Given the description of an element on the screen output the (x, y) to click on. 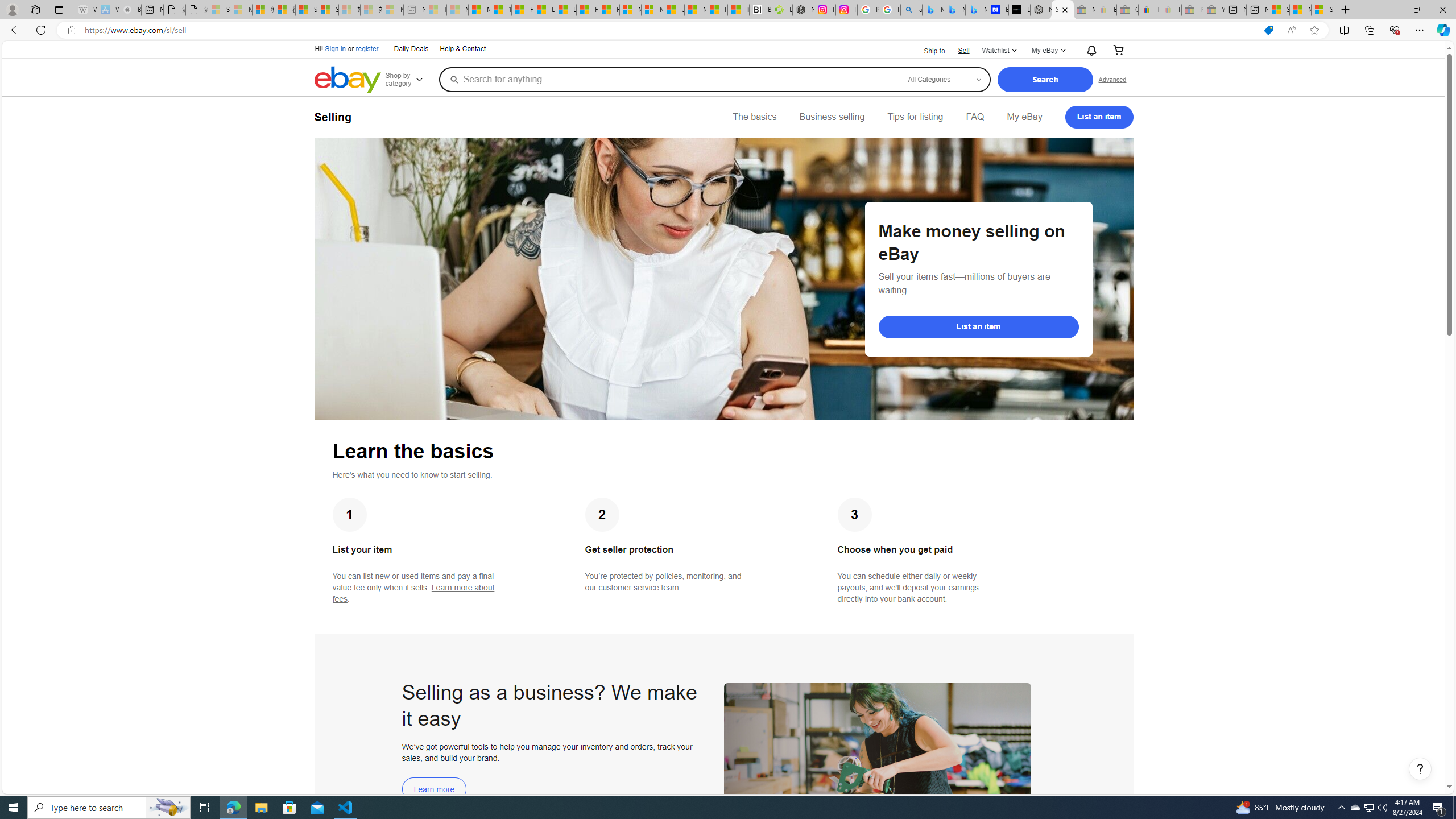
Daily Deals (410, 48)
Watchlist (998, 50)
AutomationID: gh-eb-Alerts (1090, 49)
Notifications (1088, 49)
Ship to (927, 49)
Sign in to your Microsoft account - Sleeping (218, 9)
Help & Contact (461, 48)
eBay Home (347, 79)
Learn more about fees - opens in new window or tab. (413, 593)
Select a category for search (944, 78)
